Given the description of an element on the screen output the (x, y) to click on. 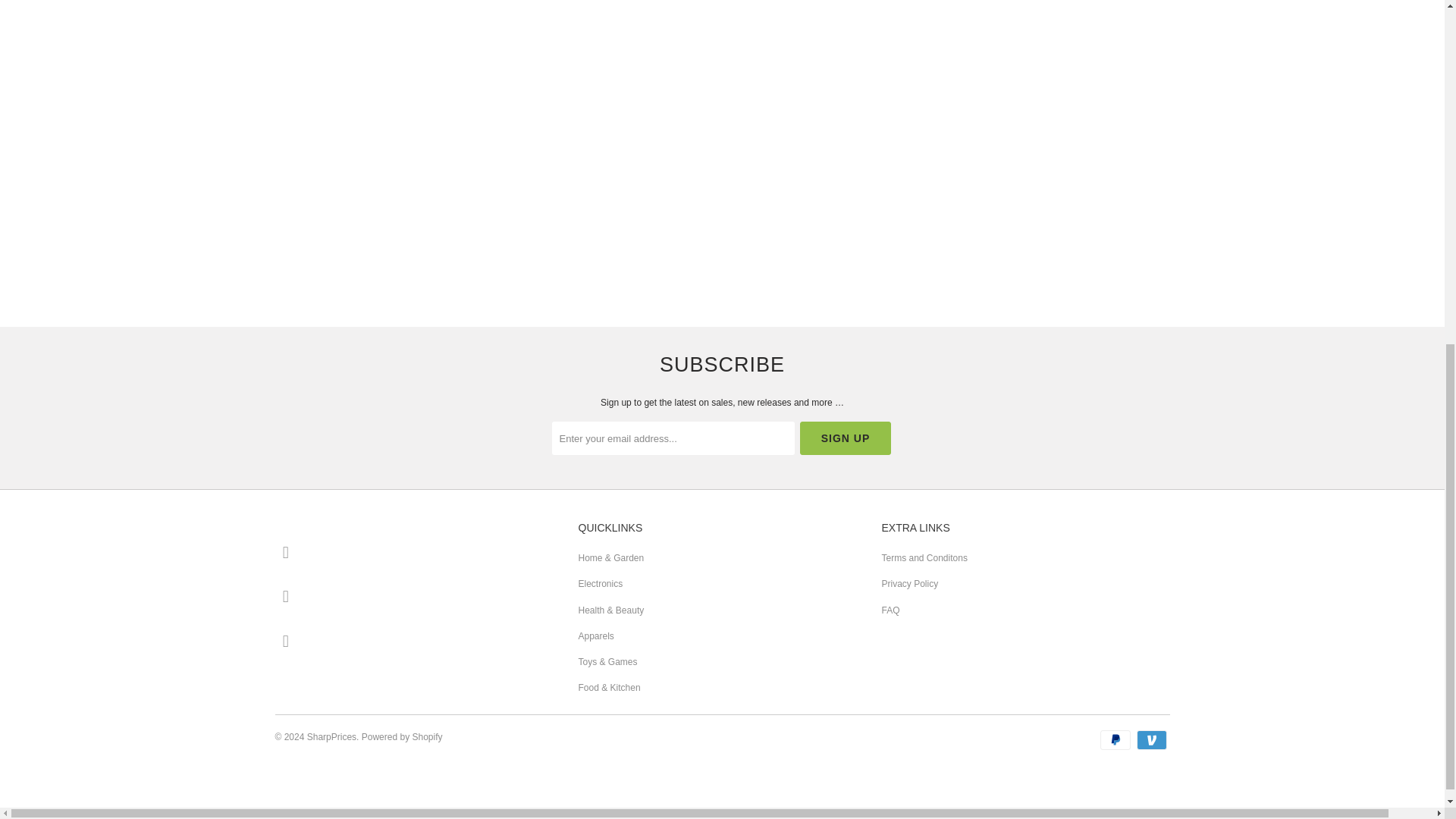
Sign Up (845, 438)
SharpPrices on Instagram (286, 640)
Back to the top (30, 810)
SharpPrices on Facebook (286, 597)
SharpPrices on Twitter (286, 552)
